Given the description of an element on the screen output the (x, y) to click on. 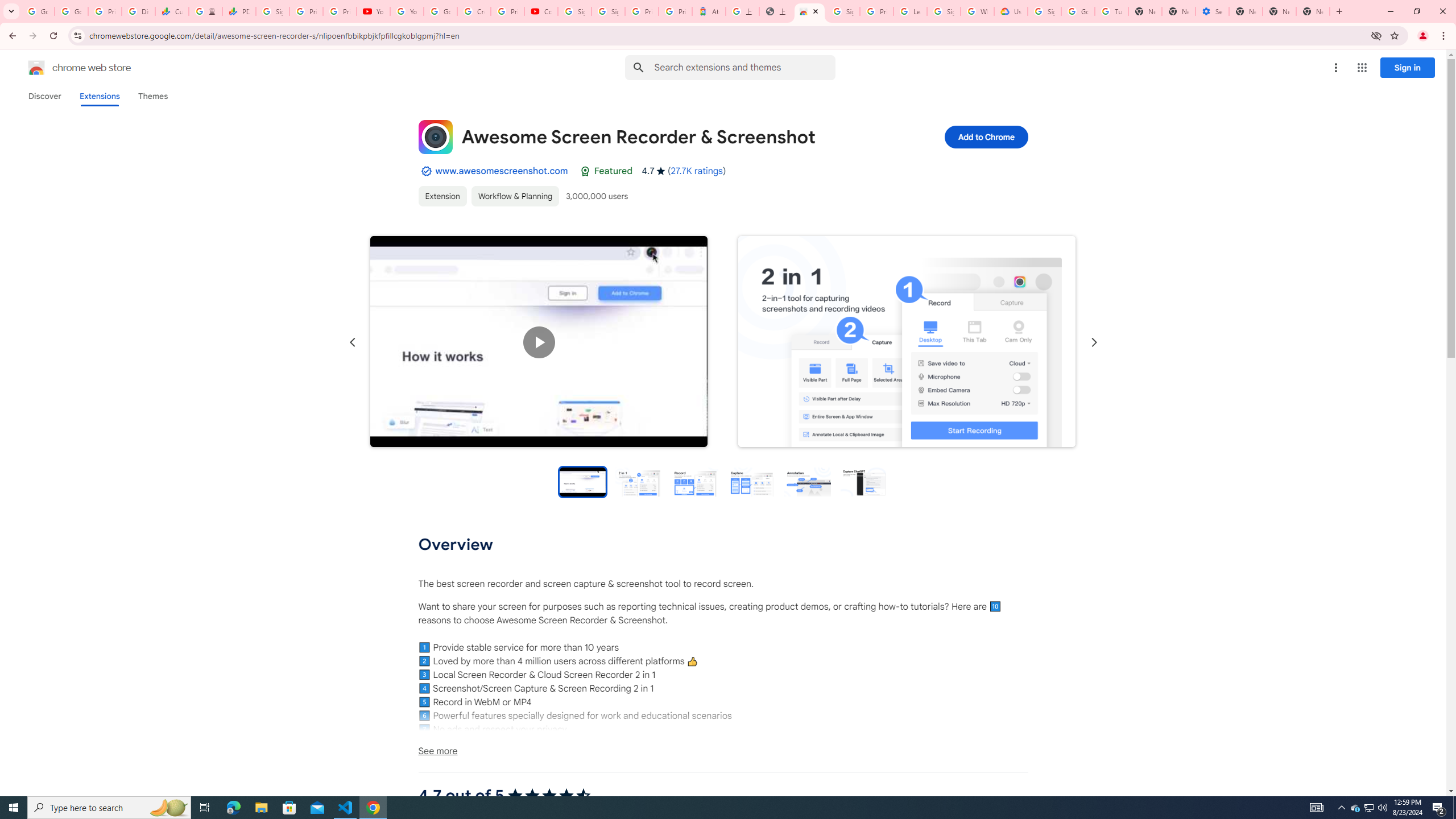
Atour Hotel - Google hotels (708, 11)
New Tab (1246, 11)
Preview slide 5 (807, 481)
Next slide (1093, 342)
Settings - Addresses and more (1212, 11)
Add to Chrome (985, 136)
Preview slide 2 (638, 481)
